Given the description of an element on the screen output the (x, y) to click on. 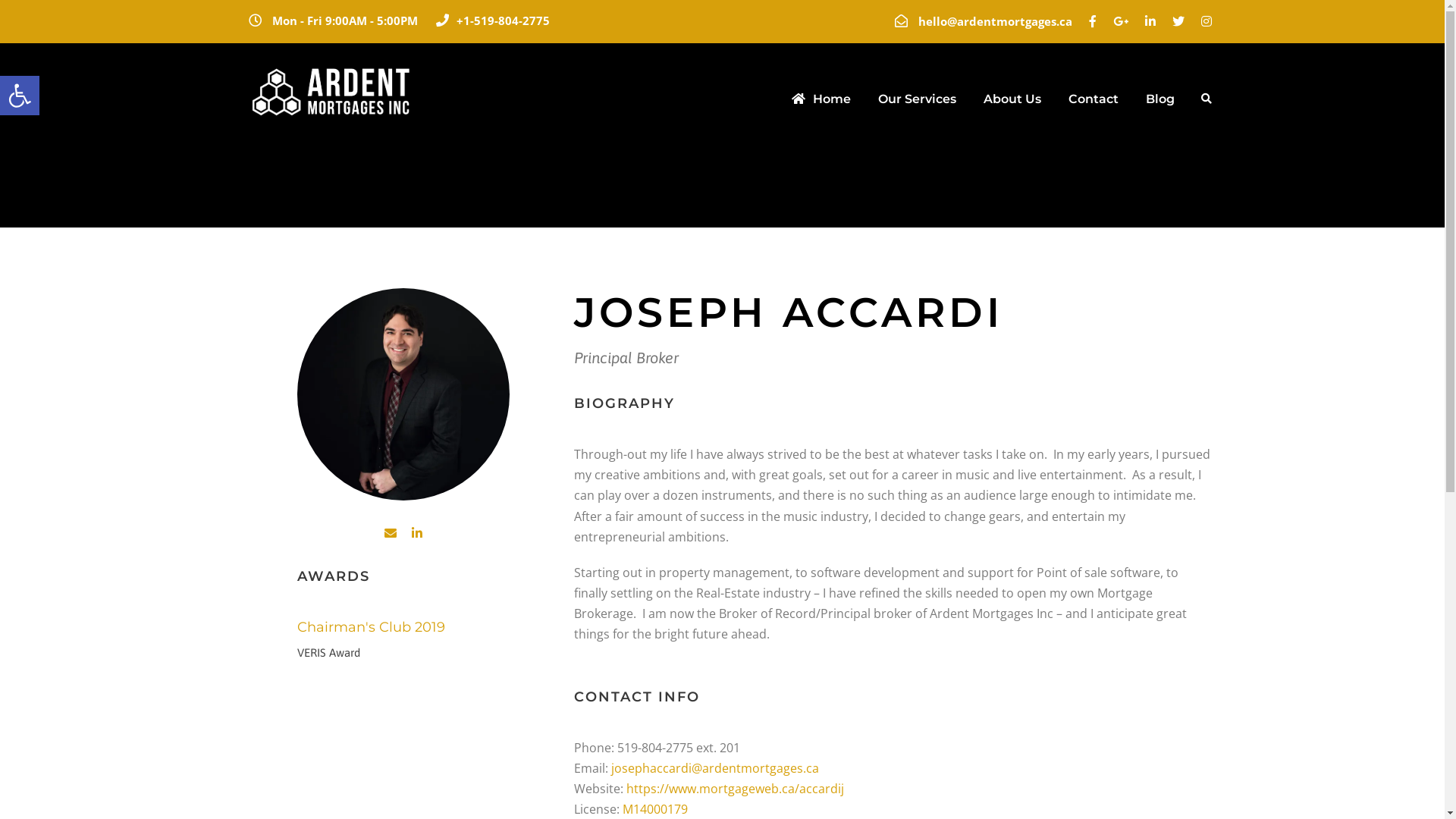
linkedin Element type: hover (416, 532)
Blog Element type: text (1159, 106)
Joseph Element type: hover (403, 394)
M14000179 Element type: text (654, 808)
twitter Element type: hover (1178, 20)
ArdentLogo-WHITE Element type: hover (335, 89)
email Element type: hover (390, 532)
hello@ardentmortgages.ca Element type: text (994, 20)
Home Element type: text (820, 106)
facebook Element type: hover (1092, 20)
google-plus Element type: hover (1120, 20)
josephaccardi@ardentmortgages.ca Element type: text (715, 767)
About Us Element type: text (1011, 106)
Open toolbar Element type: text (19, 95)
linkedin Element type: hover (1150, 20)
Our Services Element type: text (917, 106)
+1-519-804-2775 Element type: text (502, 20)
https://www.mortgageweb.ca/accardij Element type: text (735, 788)
Contact Element type: text (1092, 106)
instagram Element type: hover (1206, 20)
